Given the description of an element on the screen output the (x, y) to click on. 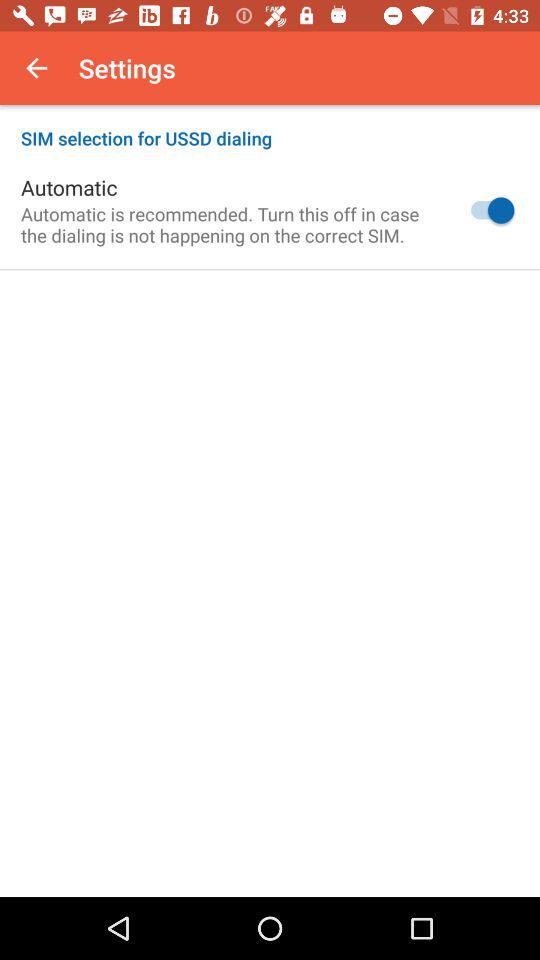
turn off automatic is recommended item (228, 224)
